Given the description of an element on the screen output the (x, y) to click on. 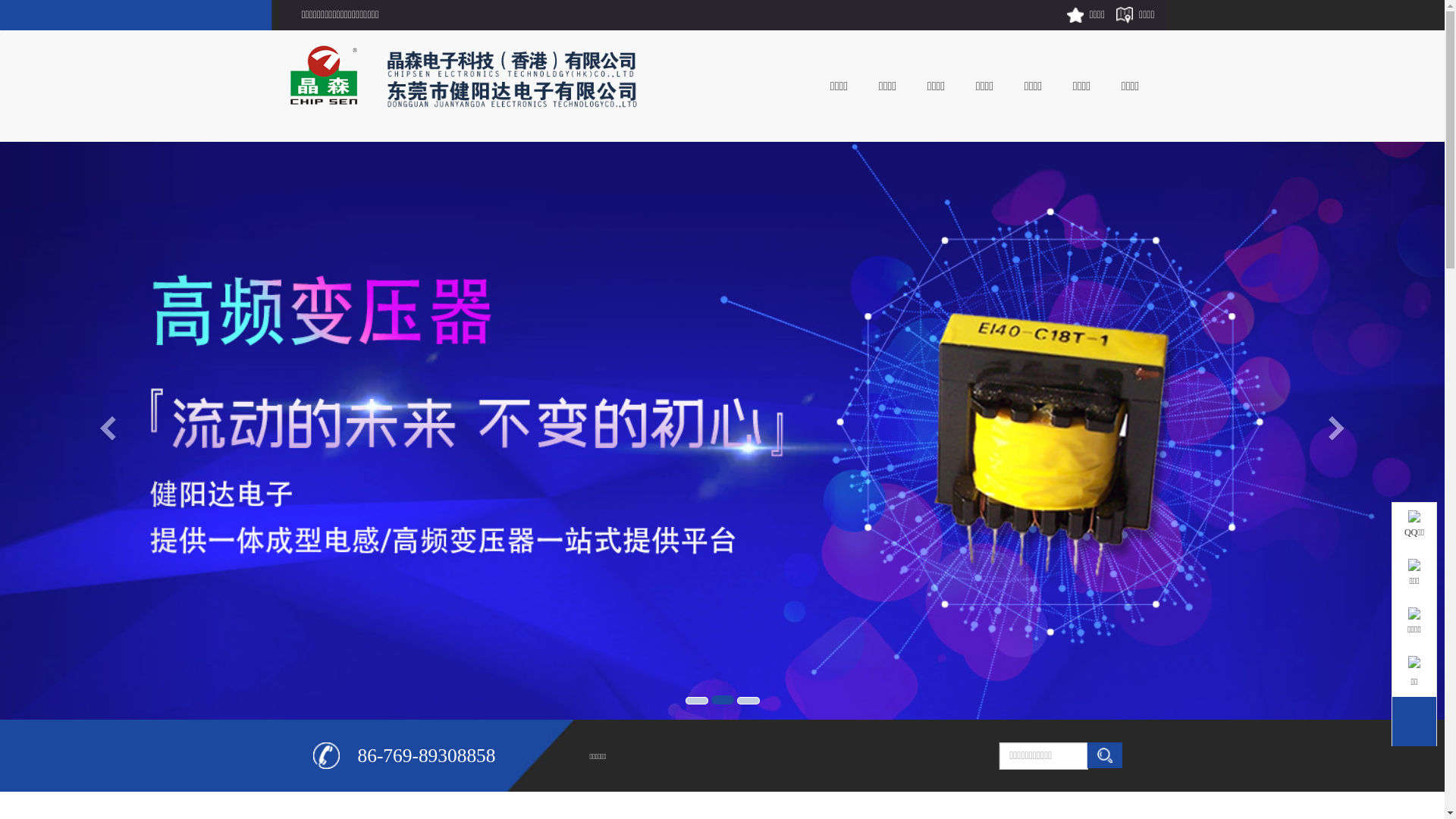
                       Element type: text (1394, 699)
banner1 Element type: hover (696, 700)
